Given the description of an element on the screen output the (x, y) to click on. 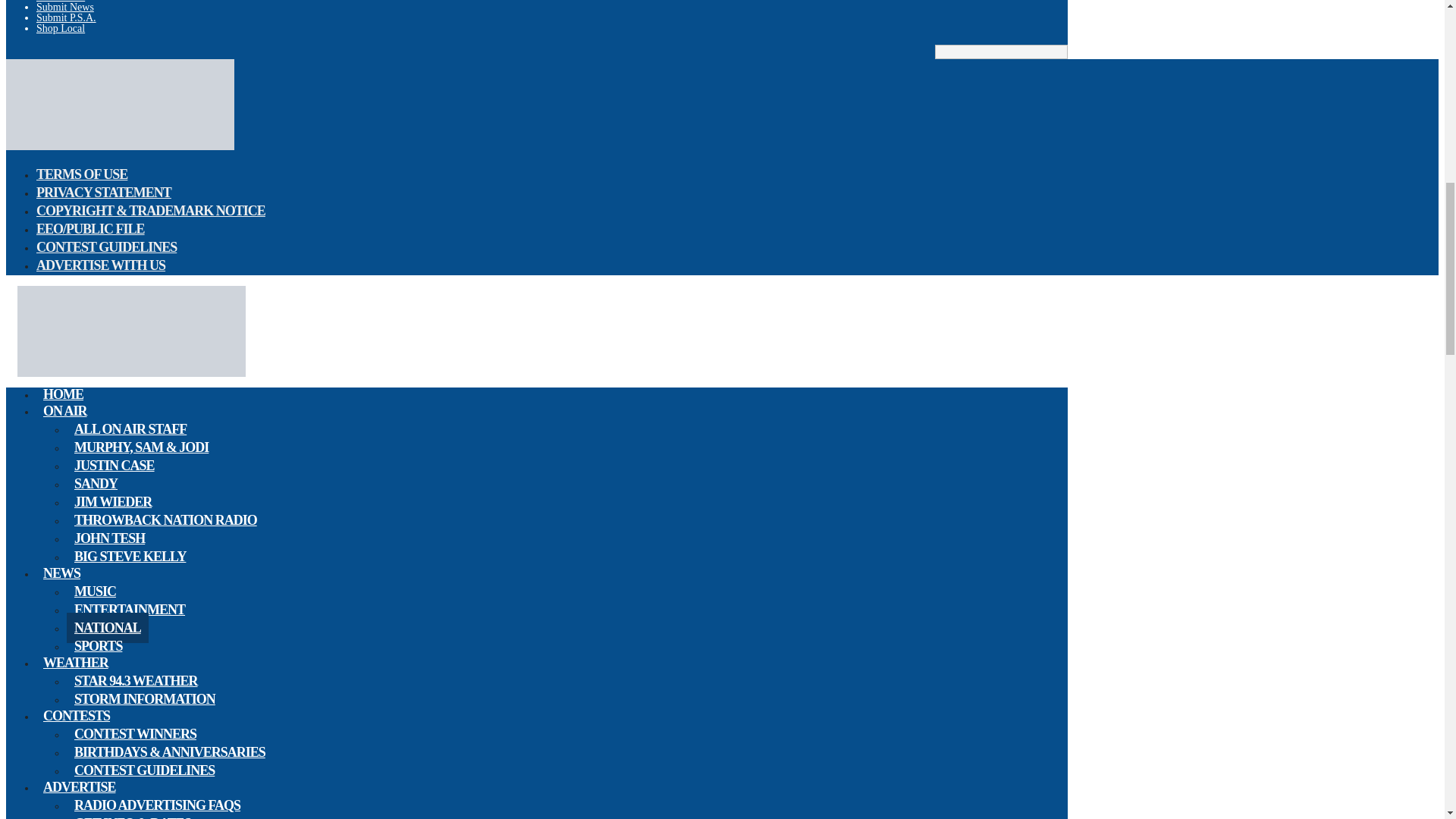
STAR 94.3 (119, 146)
Search for: (1000, 51)
